Given the description of an element on the screen output the (x, y) to click on. 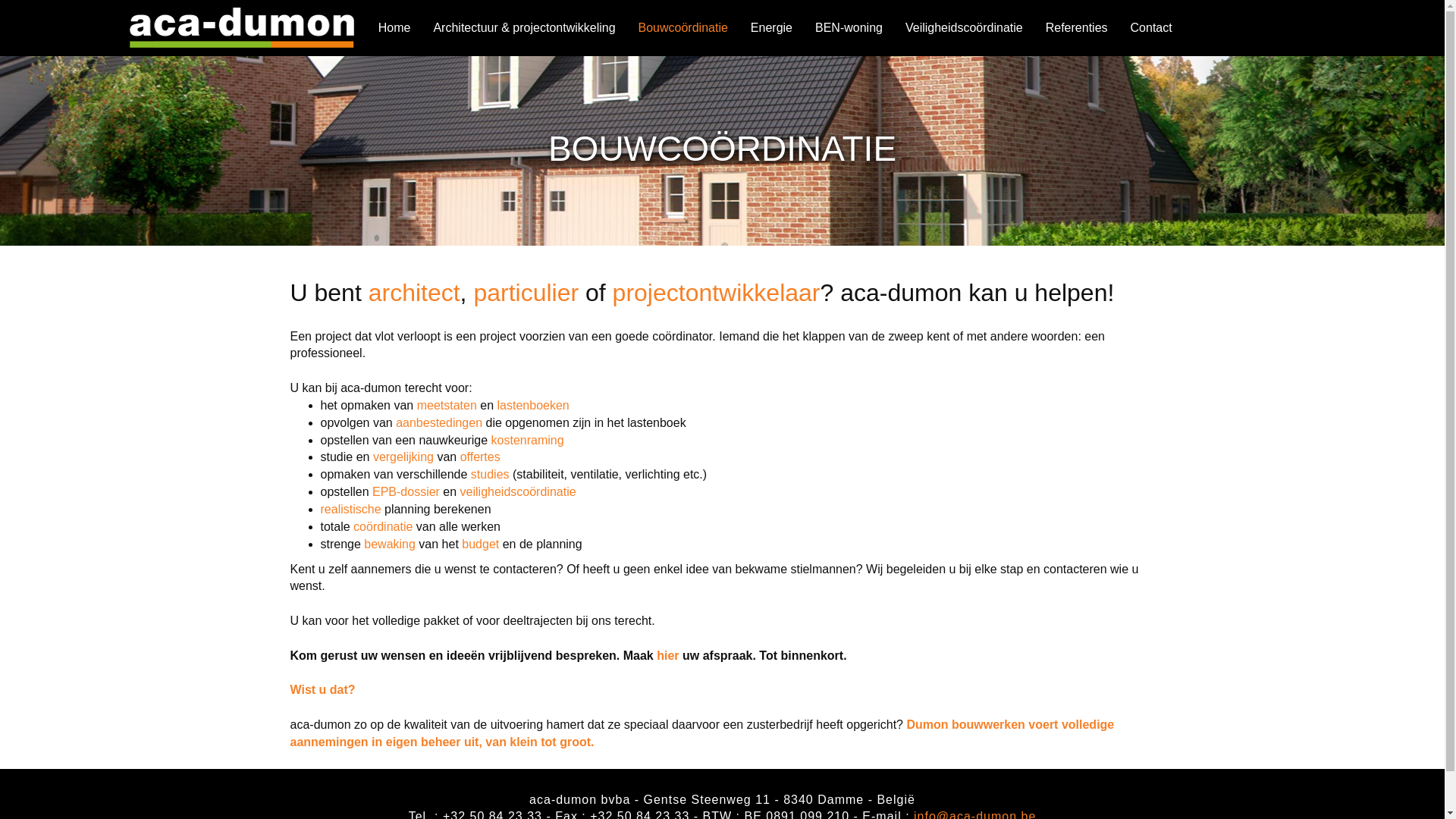
Energie Element type: text (771, 27)
hier Element type: text (667, 655)
Home Element type: text (394, 27)
Contact Element type: text (1151, 27)
BEN-woning Element type: text (848, 27)
Architectuur & projectontwikkeling Element type: text (523, 27)
Referenties Element type: text (1076, 27)
